Given the description of an element on the screen output the (x, y) to click on. 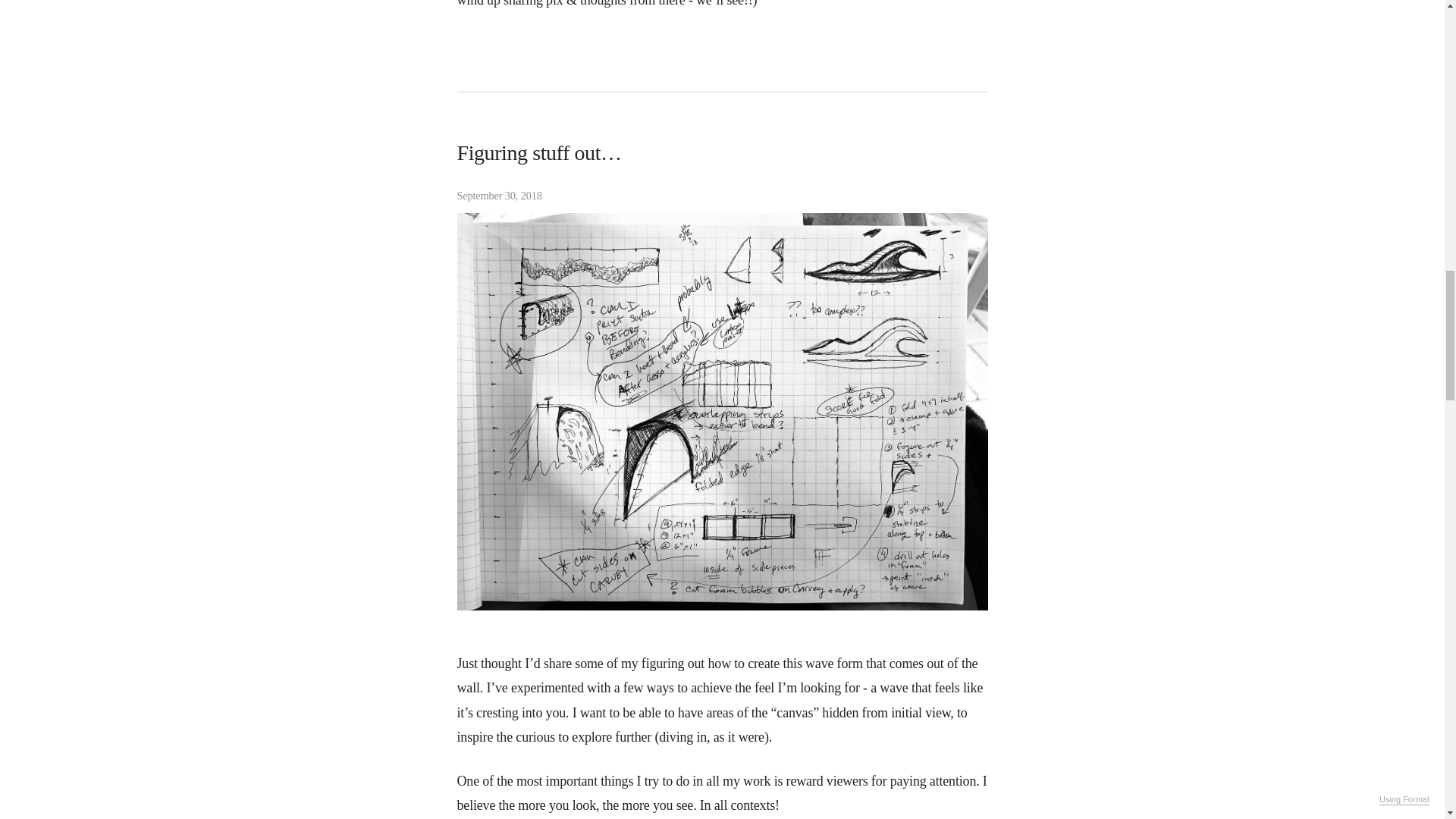
September 30, 2018 (722, 194)
